Given the description of an element on the screen output the (x, y) to click on. 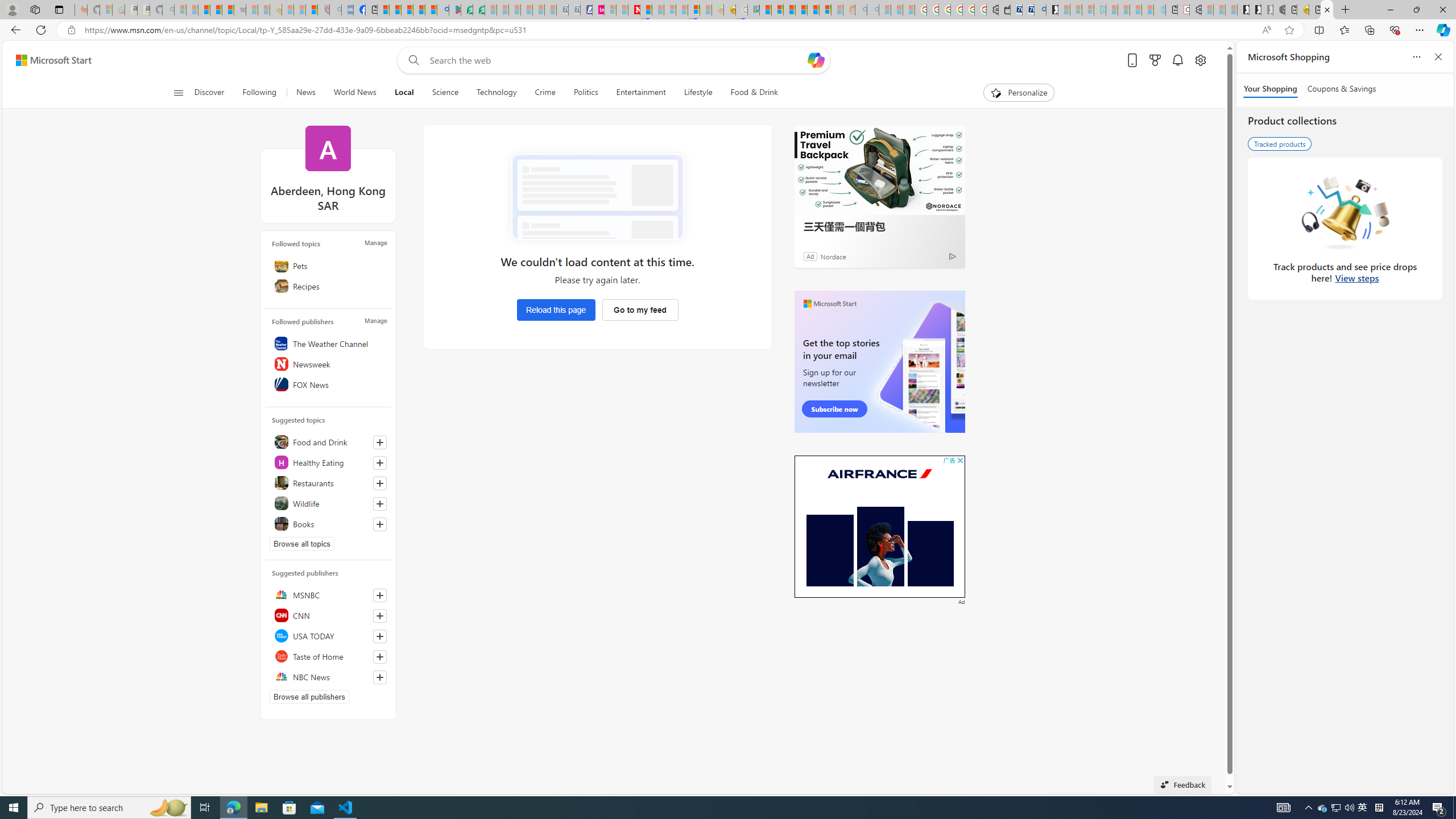
Entertainment (640, 92)
google - Search (443, 9)
CNN (327, 615)
Lifestyle (697, 92)
Politics (585, 92)
Food and Drink (327, 441)
Robert H. Shmerling, MD - Harvard Health - Sleeping (323, 9)
Terms of Use Agreement (466, 9)
